Given the description of an element on the screen output the (x, y) to click on. 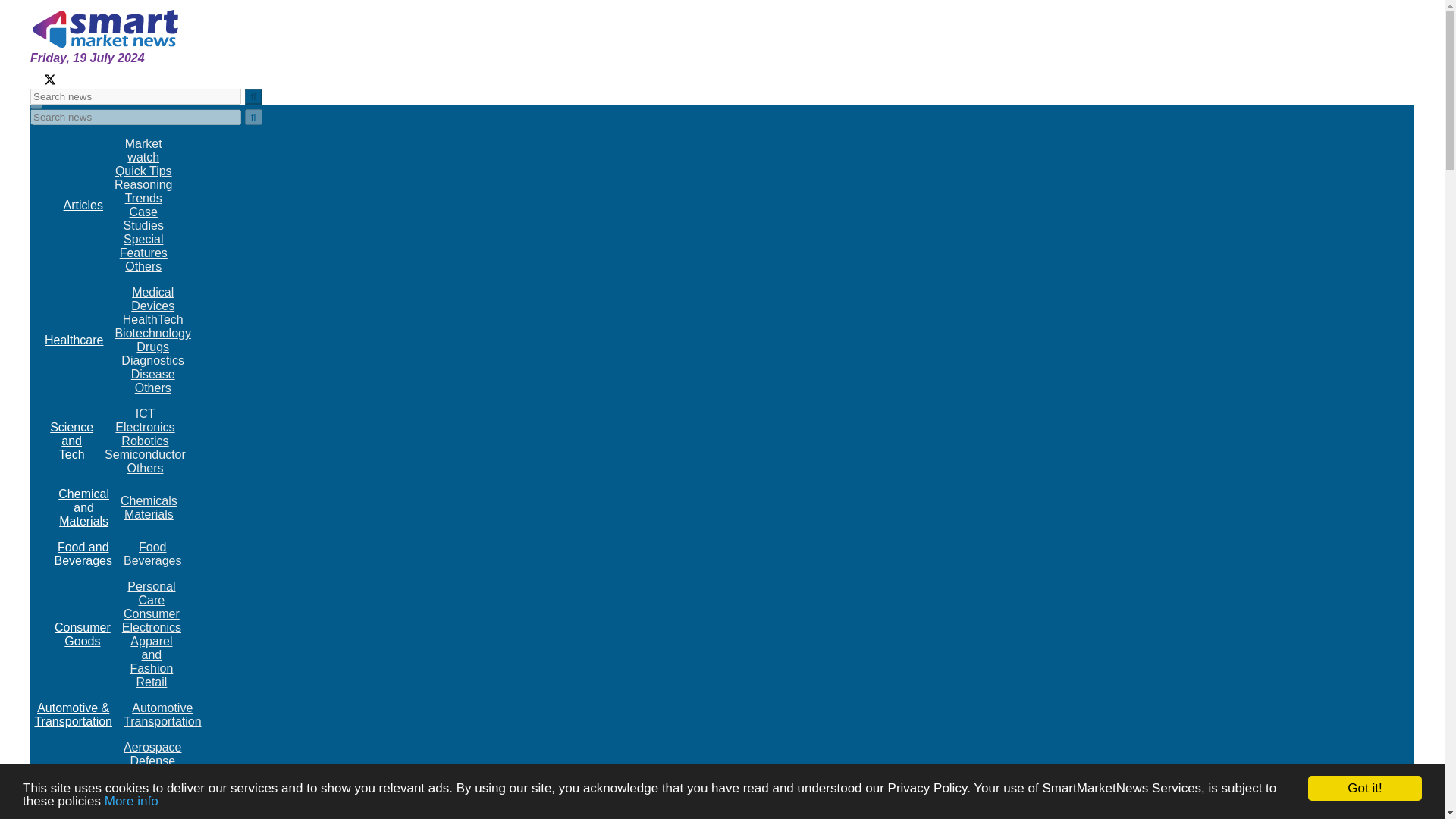
Reasoning (144, 184)
Others (144, 468)
Semiconductor (145, 454)
Special Features (143, 245)
Case Studies (143, 218)
Science and Tech (71, 440)
Food and Beverages (82, 554)
Biotechnology (152, 332)
Quick Tips (143, 170)
Healthcare (74, 340)
Trends (143, 197)
Others (153, 387)
ICT (144, 413)
Food (151, 546)
HealthTech (152, 318)
